Given the description of an element on the screen output the (x, y) to click on. 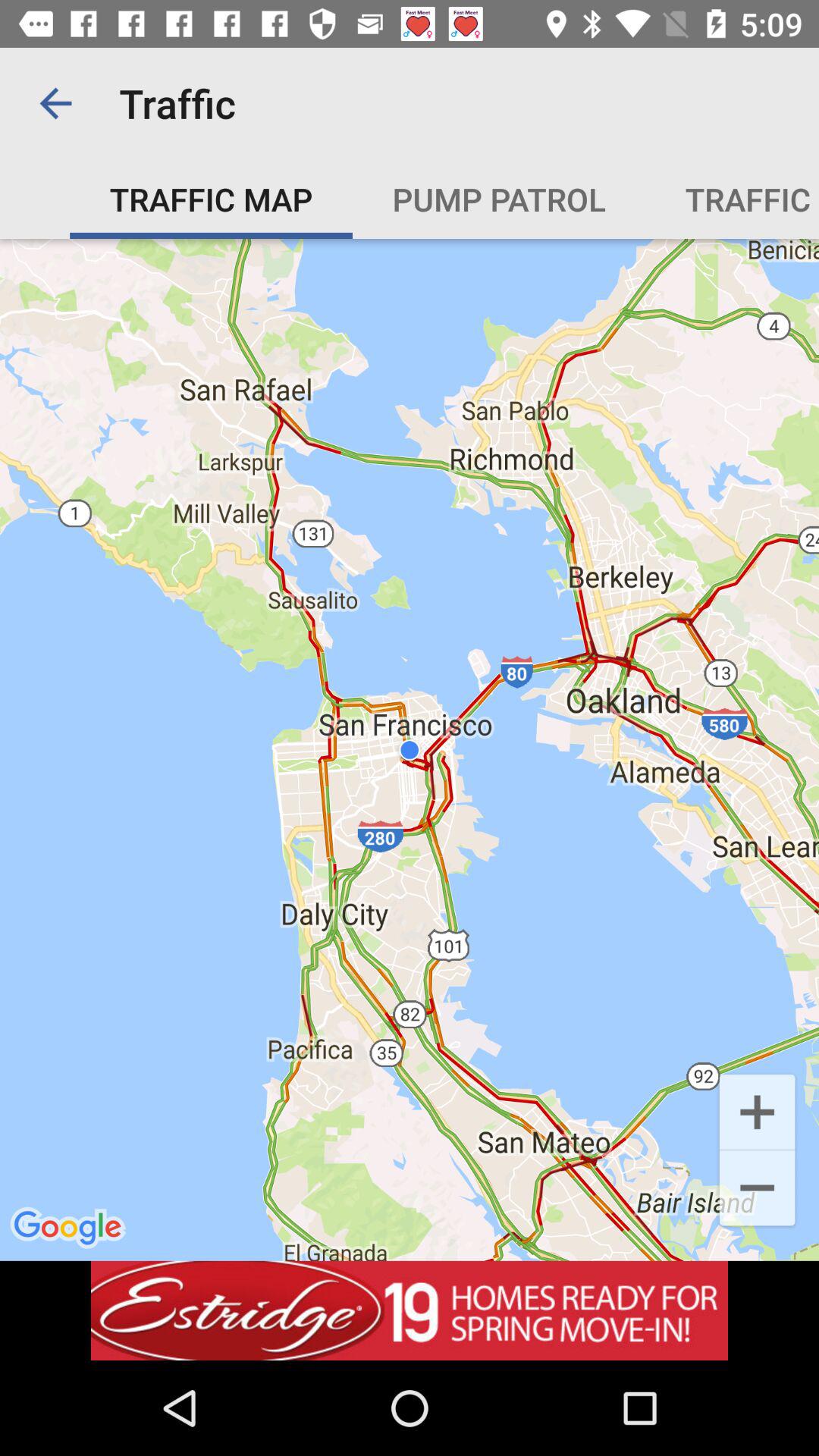
see adds (409, 1310)
